Given the description of an element on the screen output the (x, y) to click on. 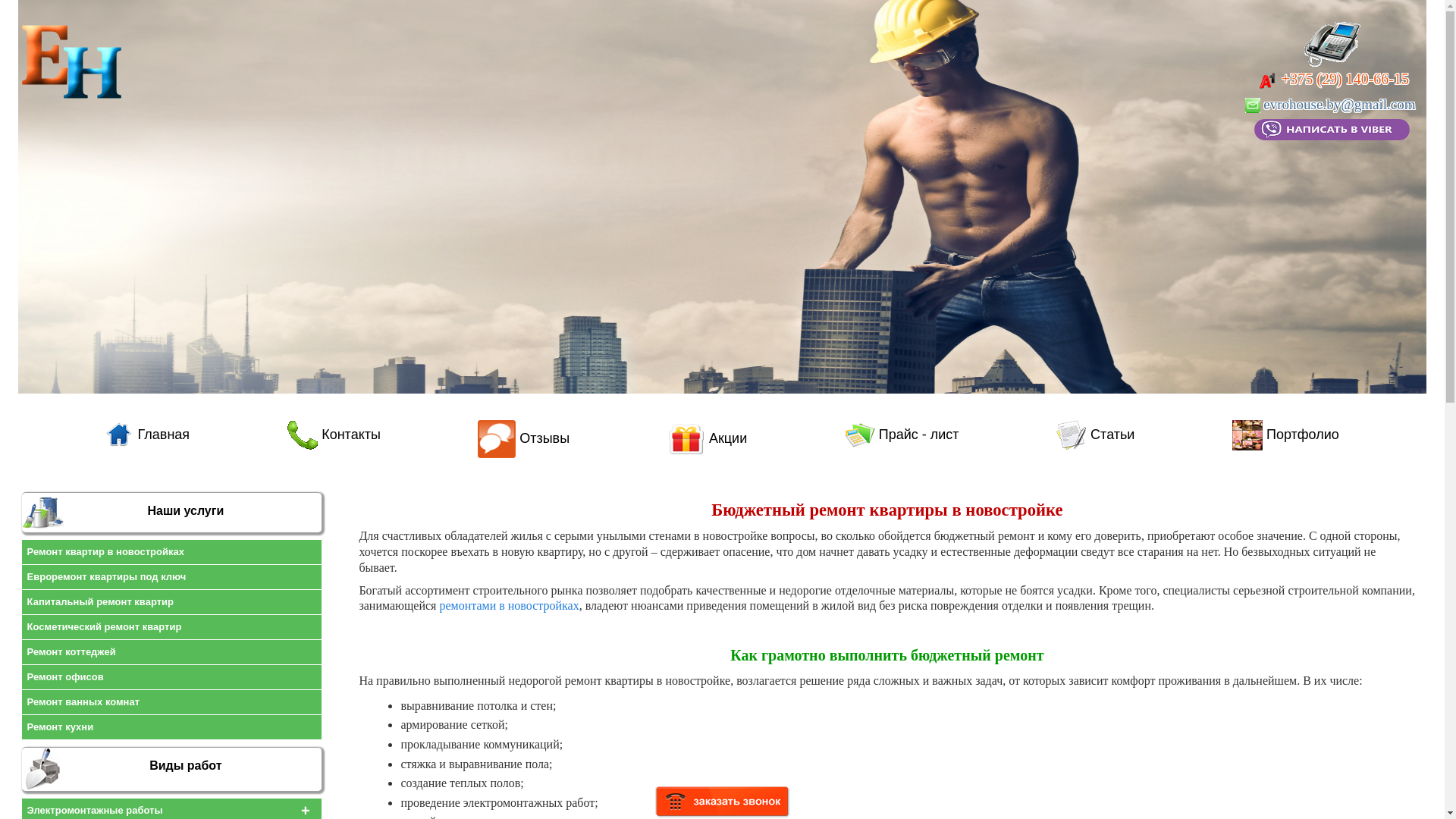
+375 (29) 140-66-15 Element type: text (1342, 97)
evrohouse.by@gmail.com Element type: text (1332, 104)
